Given the description of an element on the screen output the (x, y) to click on. 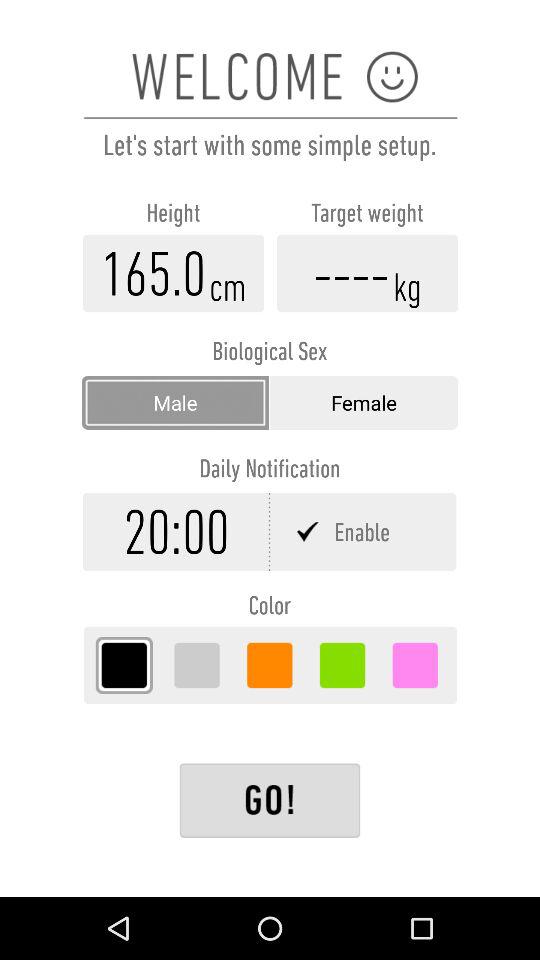
pick color green (342, 665)
